Given the description of an element on the screen output the (x, y) to click on. 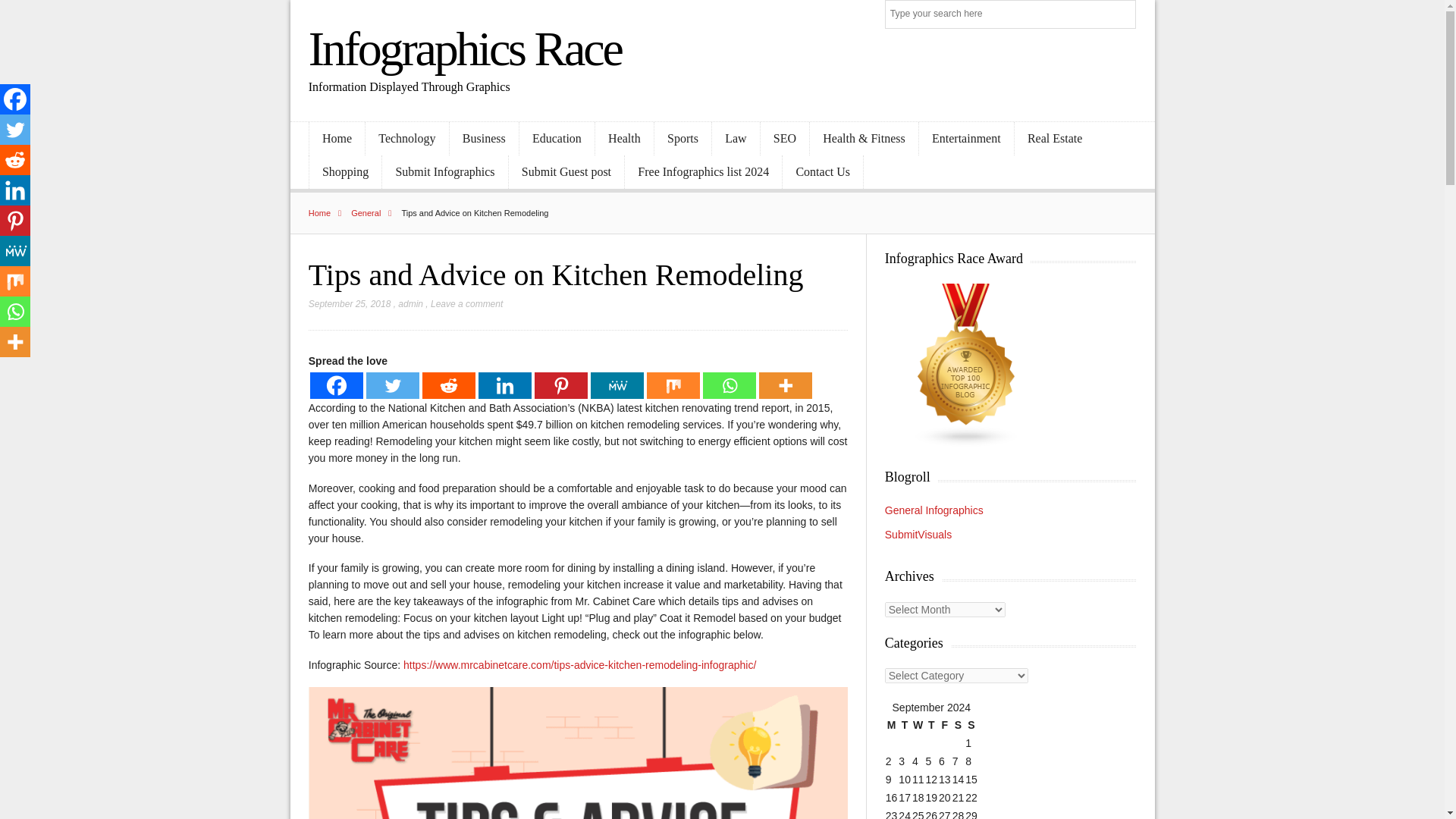
SEO (784, 139)
Reddit (15, 159)
Shopping (344, 172)
Search (1123, 15)
Sports (682, 139)
Technology (406, 139)
Home (328, 212)
Mix (673, 385)
Twitter (392, 385)
Facebook (336, 385)
